Given the description of an element on the screen output the (x, y) to click on. 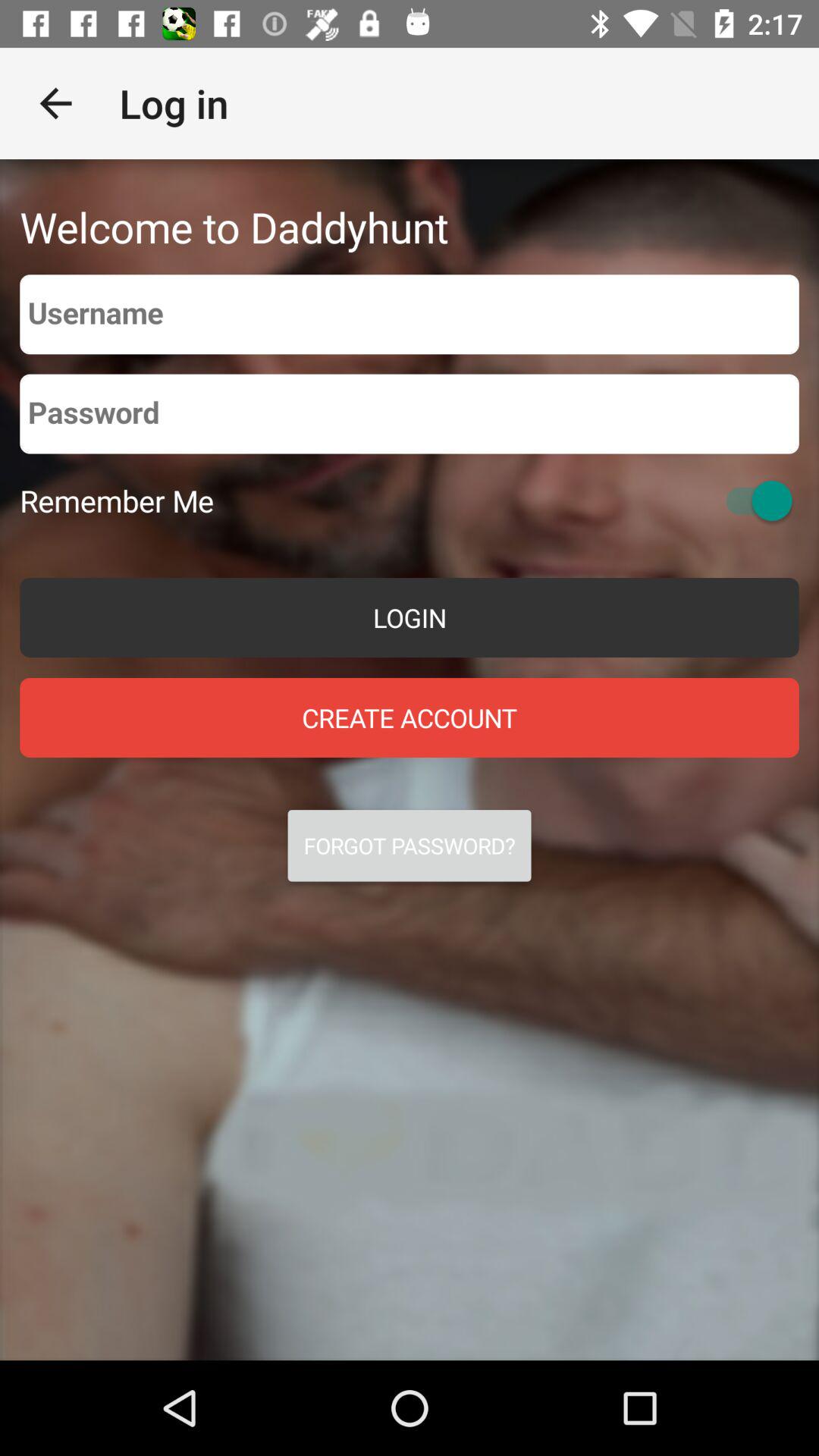
turn on icon below the create account (409, 845)
